Given the description of an element on the screen output the (x, y) to click on. 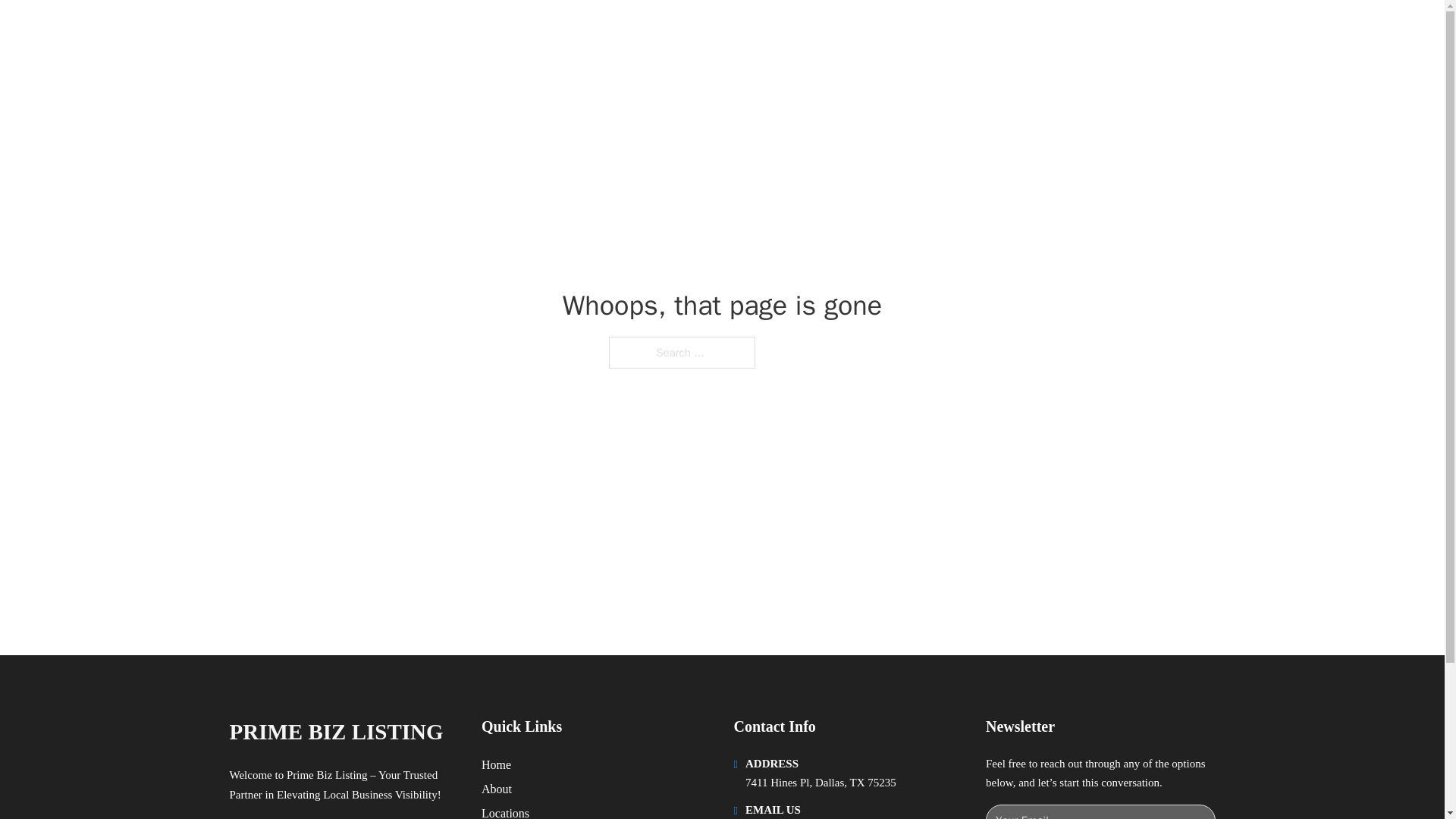
LOCATIONS (990, 29)
About (496, 788)
PRIME BIZ LISTING (335, 732)
Home (496, 764)
PRIME BIZ LISTING (404, 28)
Locations (505, 811)
HOME (919, 29)
